Given the description of an element on the screen output the (x, y) to click on. 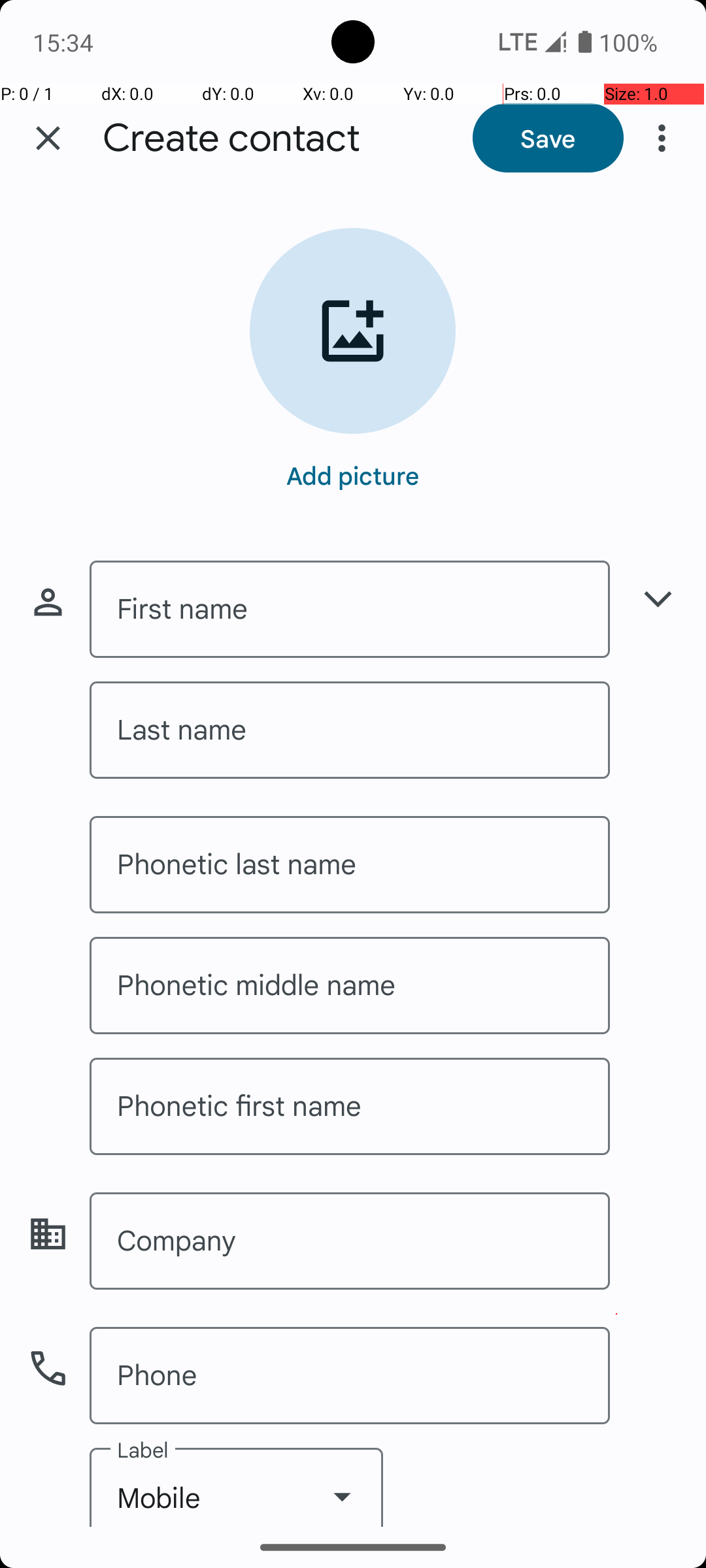
Add contact photo Element type: android.widget.FrameLayout (352, 330)
Add picture Element type: android.widget.Button (352, 474)
Last name Element type: android.widget.EditText (349, 729)
Phonetic last name Element type: android.widget.EditText (349, 864)
Phonetic middle name Element type: android.widget.EditText (349, 985)
Phonetic first name Element type: android.widget.EditText (349, 1106)
Mobile Element type: android.widget.Spinner (236, 1486)
Show more name fields Element type: android.widget.ImageView (657, 598)
